Given the description of an element on the screen output the (x, y) to click on. 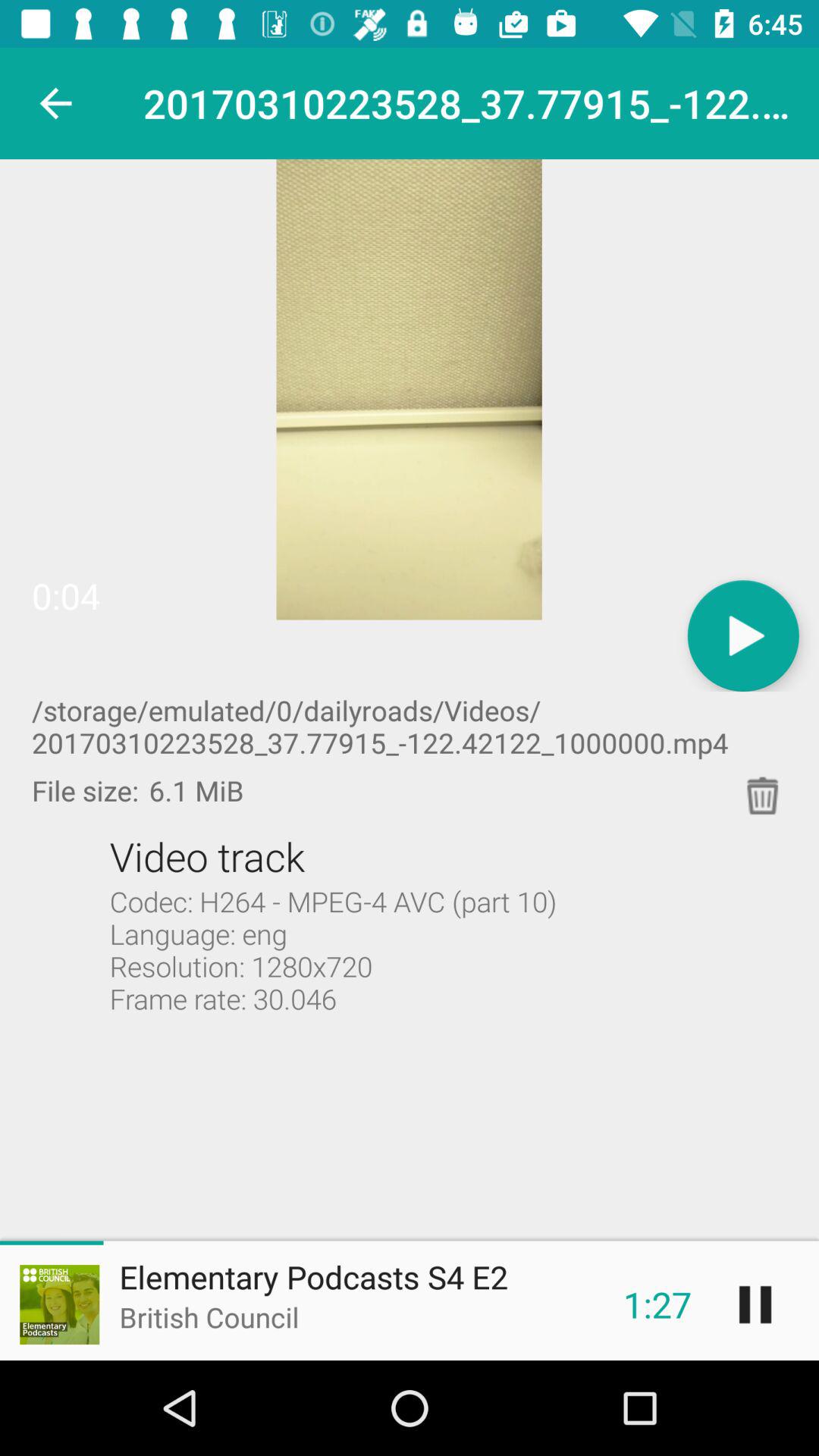
click on the pause icon (755, 1304)
